Given the description of an element on the screen output the (x, y) to click on. 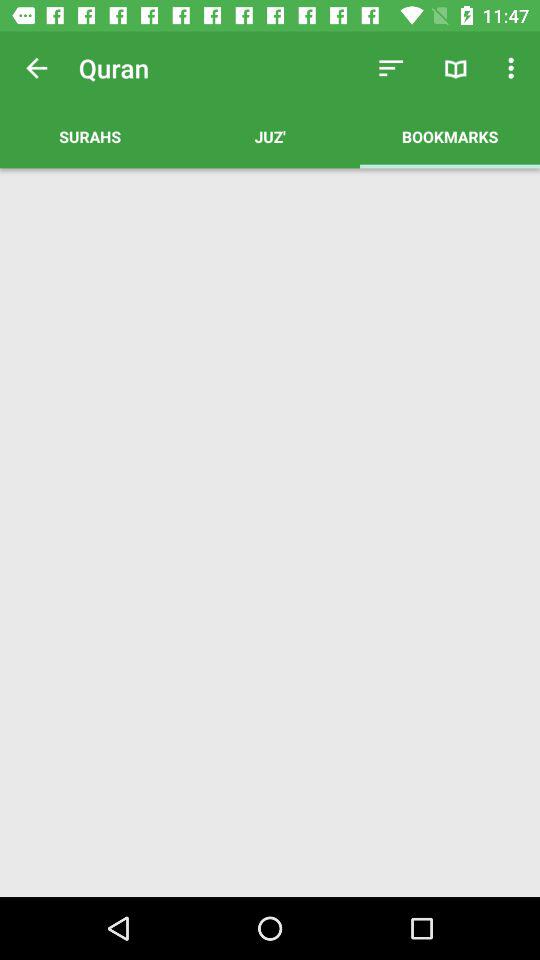
turn off juz' item (270, 136)
